Given the description of an element on the screen output the (x, y) to click on. 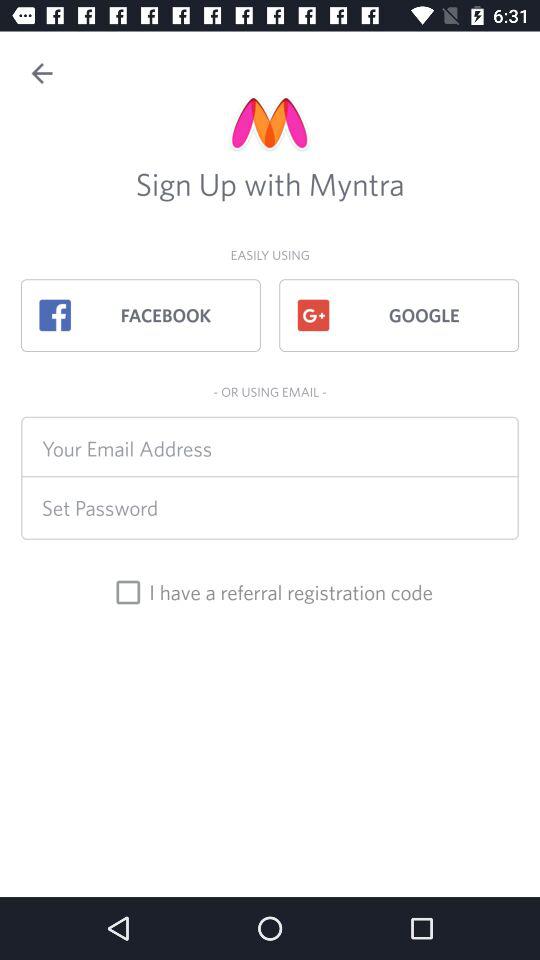
click on the back button (42, 73)
